Given the description of an element on the screen output the (x, y) to click on. 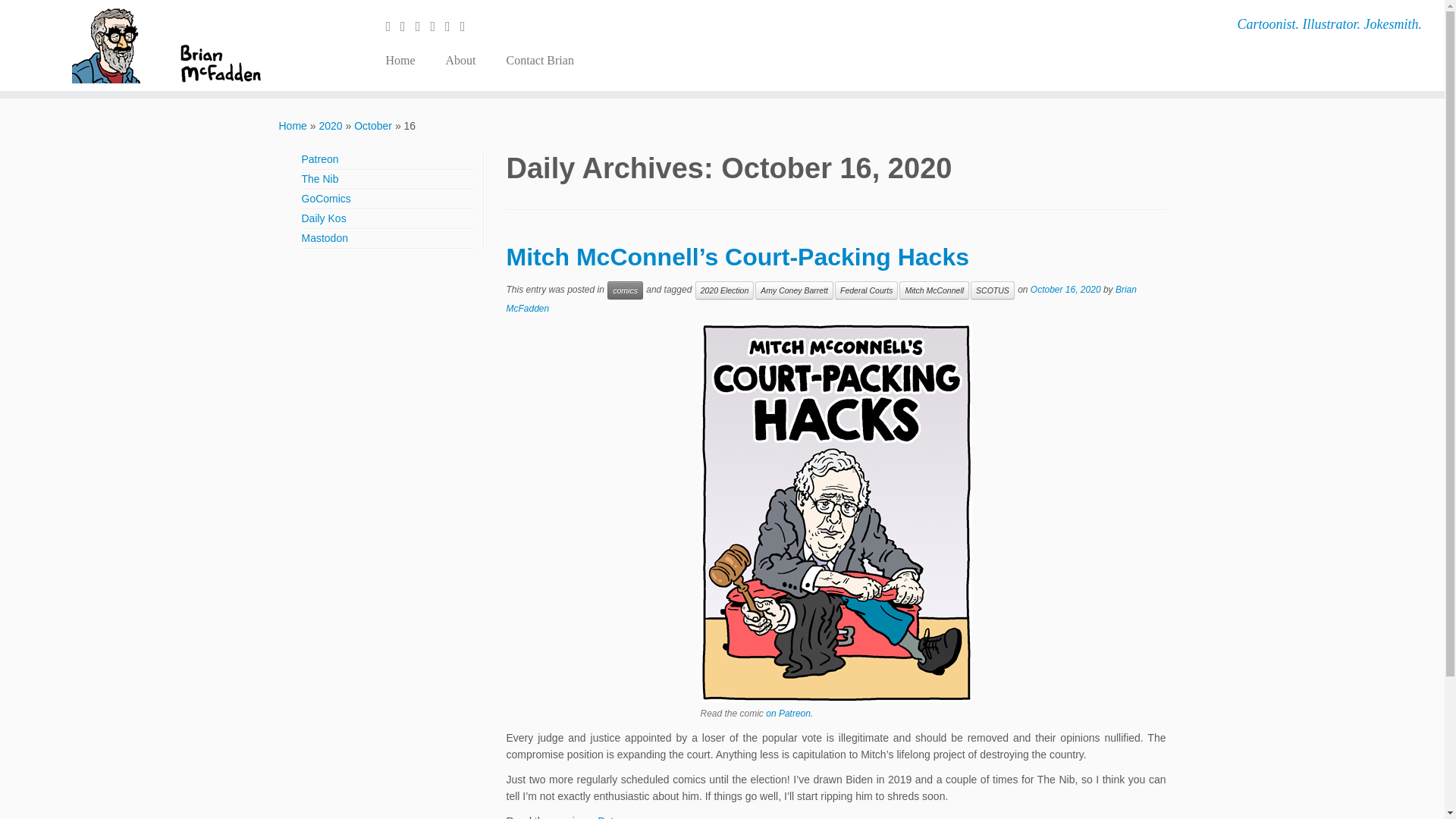
Follow me on Facebook (422, 26)
Patreon (320, 159)
Federal Courts (866, 290)
Brian McFadden (821, 298)
View all posts in SCOTUS (992, 290)
Daily Kos (323, 218)
9:26 am (1065, 289)
View all posts in 2020 Election (724, 290)
2020 (330, 125)
View all posts in comics (625, 290)
Mastodon (324, 237)
View all posts in Mitch McConnell (934, 290)
Brian McFadden (293, 125)
October 16, 2020 (1065, 289)
SCOTUS (992, 290)
